Given the description of an element on the screen output the (x, y) to click on. 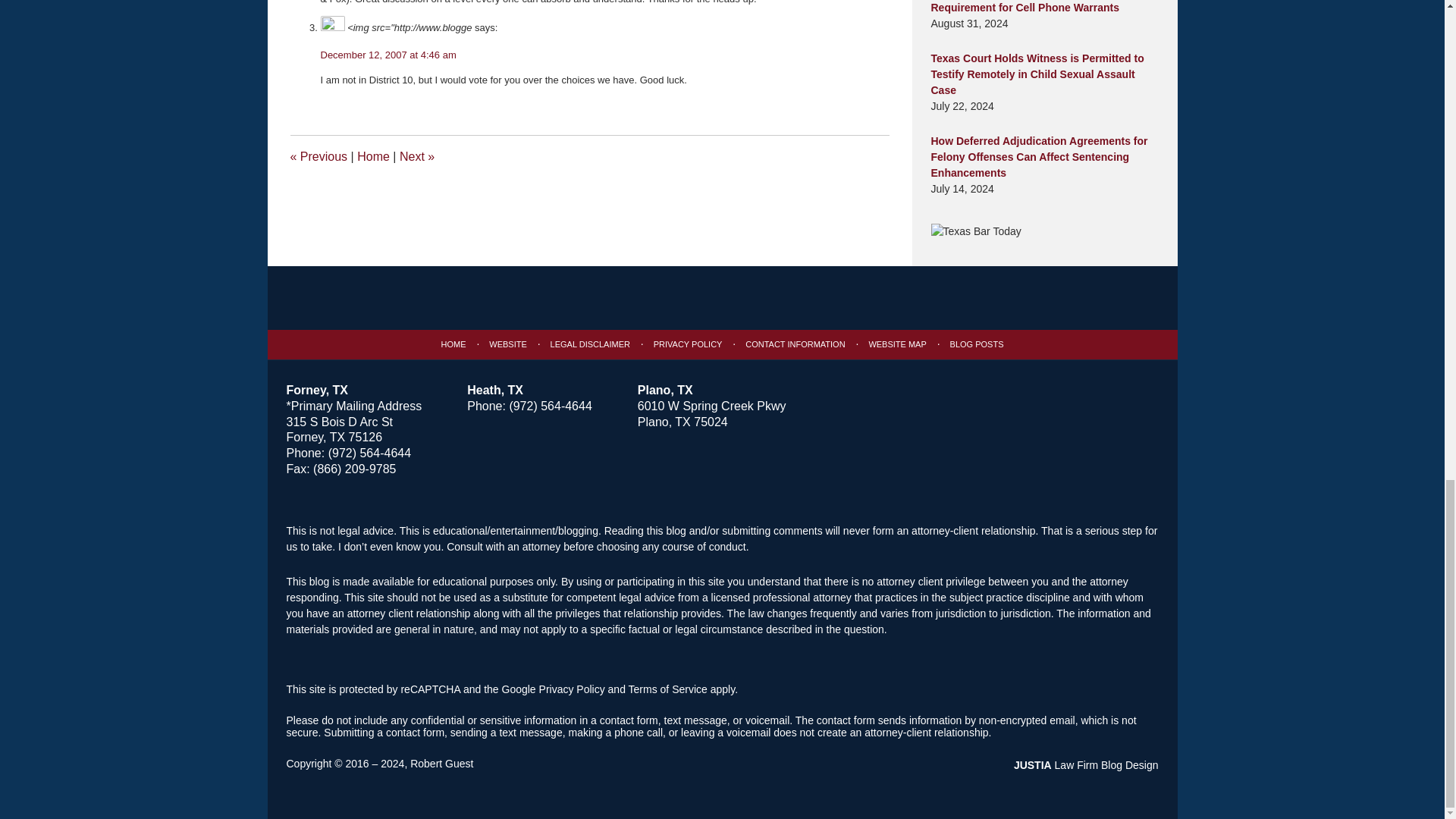
Prohibition is Dead, Long Live Prohibition (318, 155)
Home (373, 155)
December 12, 2007 at 4:46 am (387, 54)
ONDCP- The Path of Least Disclosure-Part 2 (415, 155)
